Given the description of an element on the screen output the (x, y) to click on. 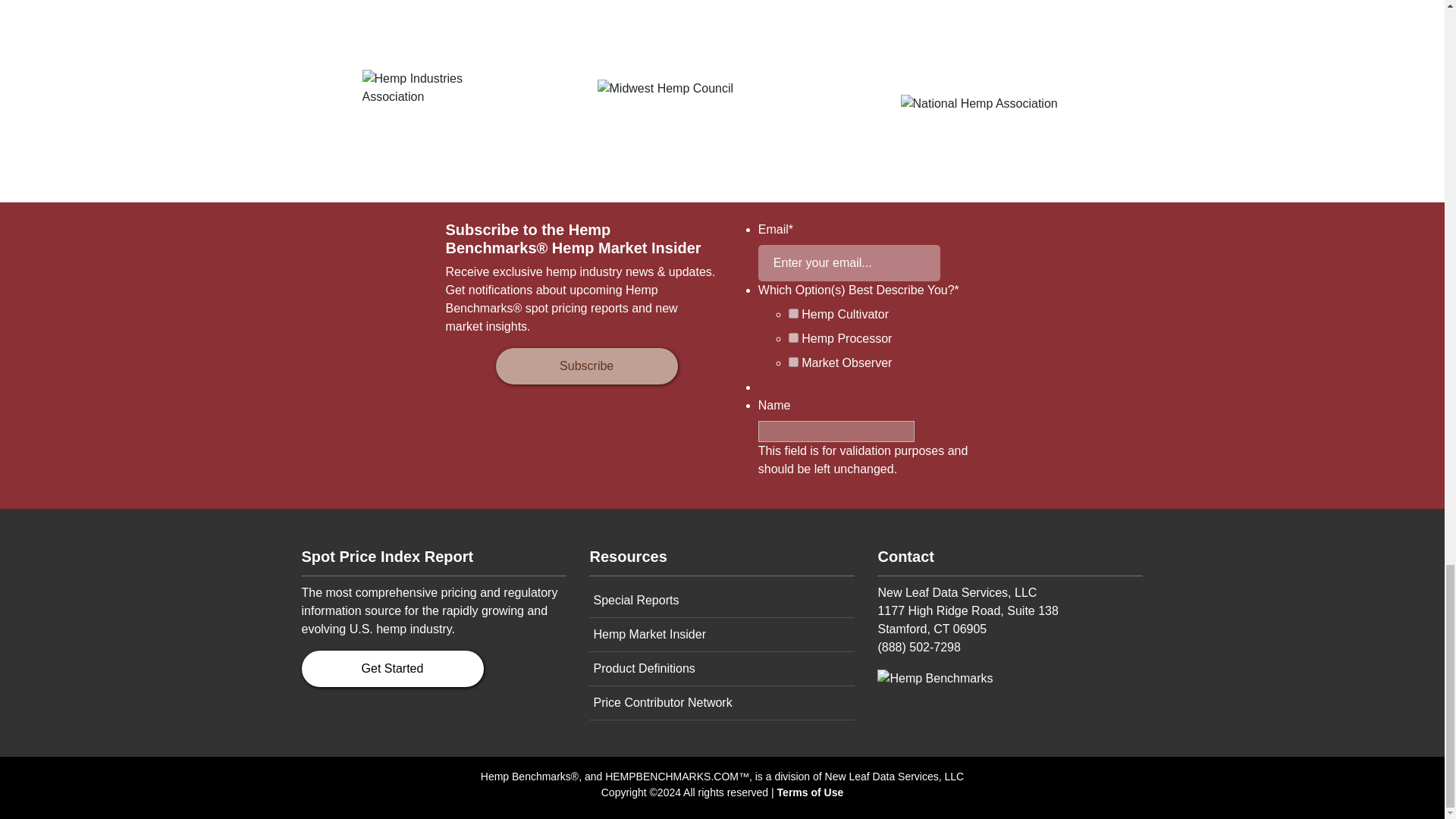
Subscribe (587, 366)
Subscribe (587, 366)
Cultivator (793, 313)
Processor (793, 337)
Market Observer (793, 361)
Product Definitions (721, 668)
Terms of Use (810, 792)
Get Started (392, 668)
Price Contributor Network (721, 703)
Special Reports (721, 600)
Hemp Market Insider (721, 634)
